Given the description of an element on the screen output the (x, y) to click on. 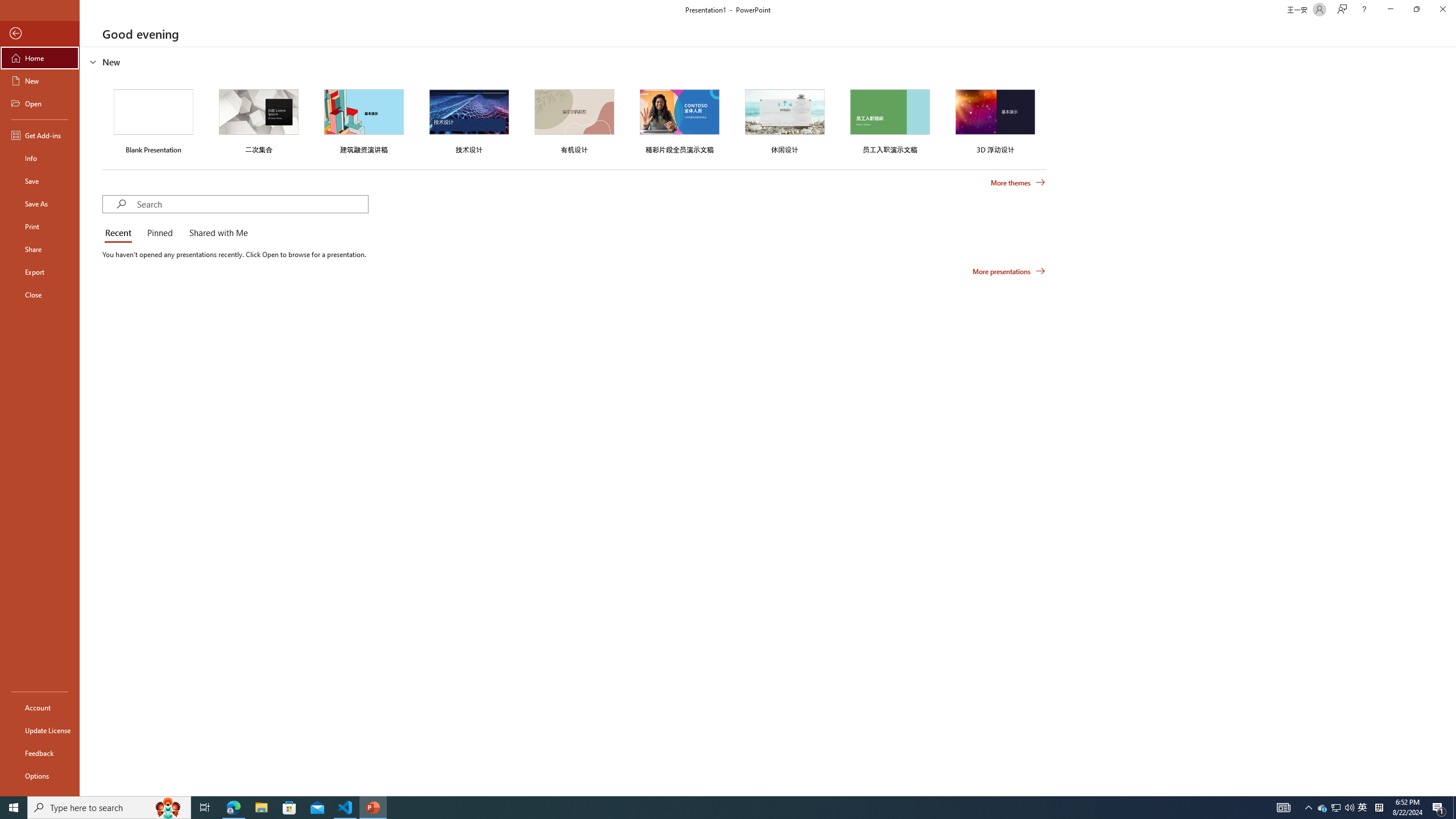
Options (40, 775)
Shared with Me (215, 233)
Feedback (40, 753)
Account (40, 707)
Hide or show region (92, 61)
Blank Presentation (153, 119)
